Given the description of an element on the screen output the (x, y) to click on. 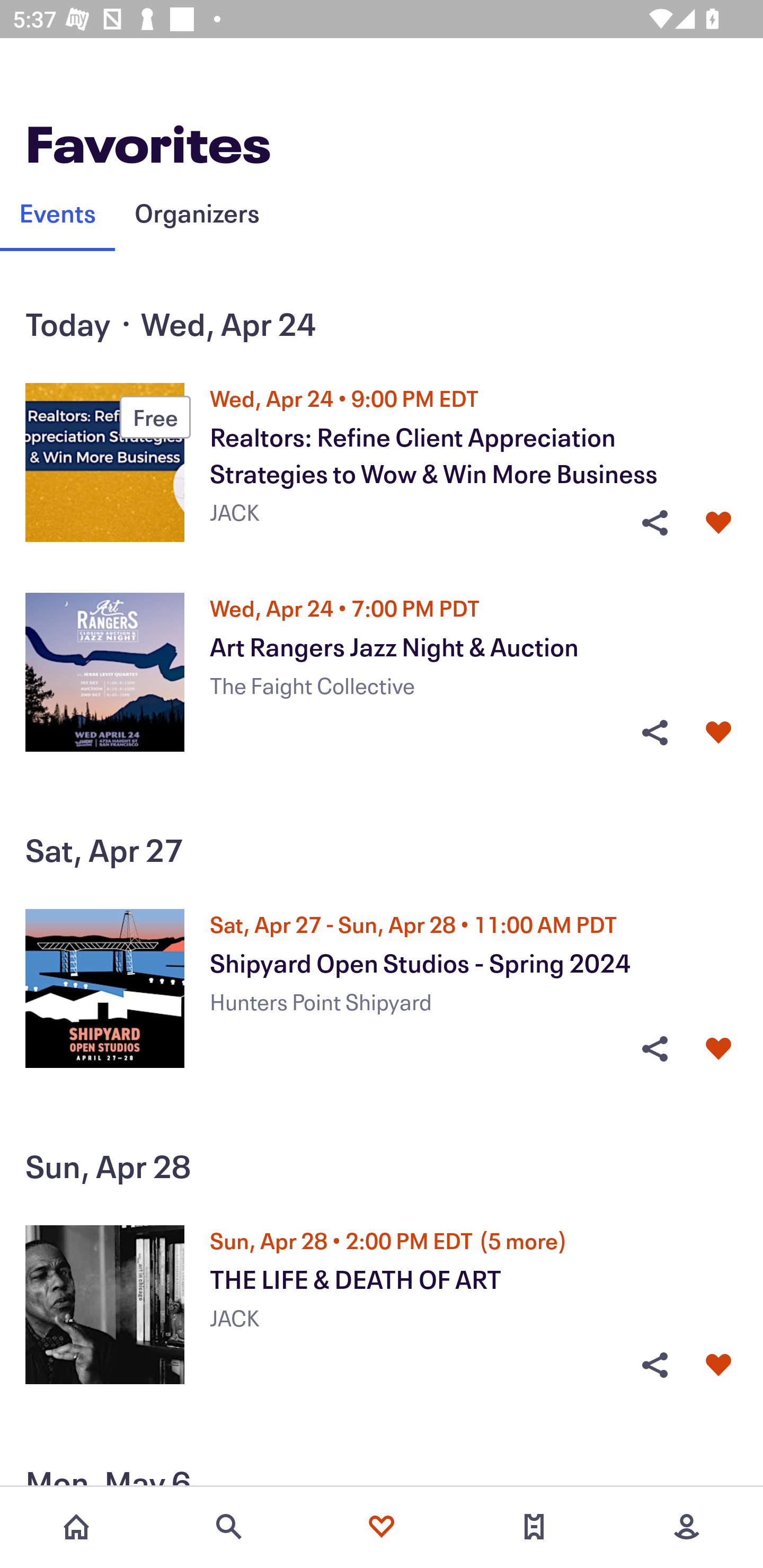
Organizers (196, 212)
Share Event (654, 522)
Unlike event (718, 522)
Share Event (654, 732)
Unlike event (718, 732)
Share Event (654, 1048)
Unlike event (718, 1048)
Share Event (654, 1364)
Unlike event (718, 1364)
Home (76, 1526)
Search events (228, 1526)
Favorites (381, 1526)
Tickets (533, 1526)
More (686, 1526)
